Given the description of an element on the screen output the (x, y) to click on. 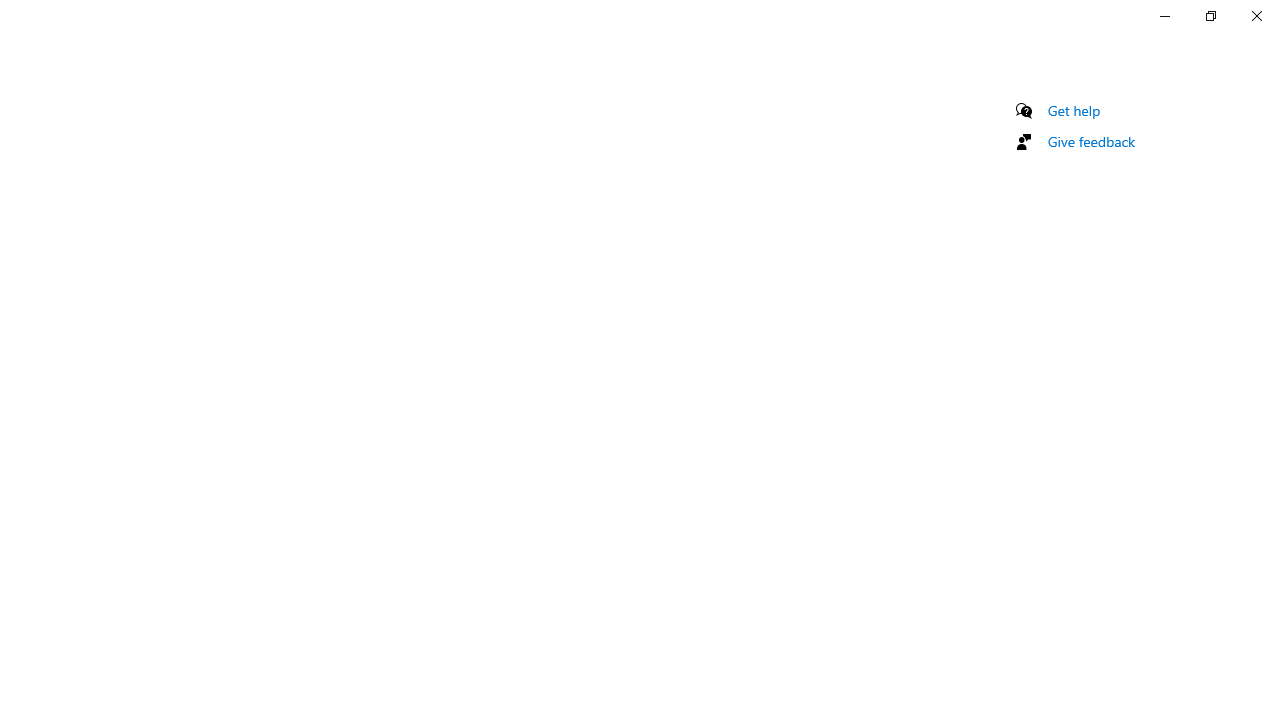
Minimize Settings (1164, 15)
Close Settings (1256, 15)
Give feedback (1091, 141)
Restore Settings (1210, 15)
Get help (1074, 110)
